Given the description of an element on the screen output the (x, y) to click on. 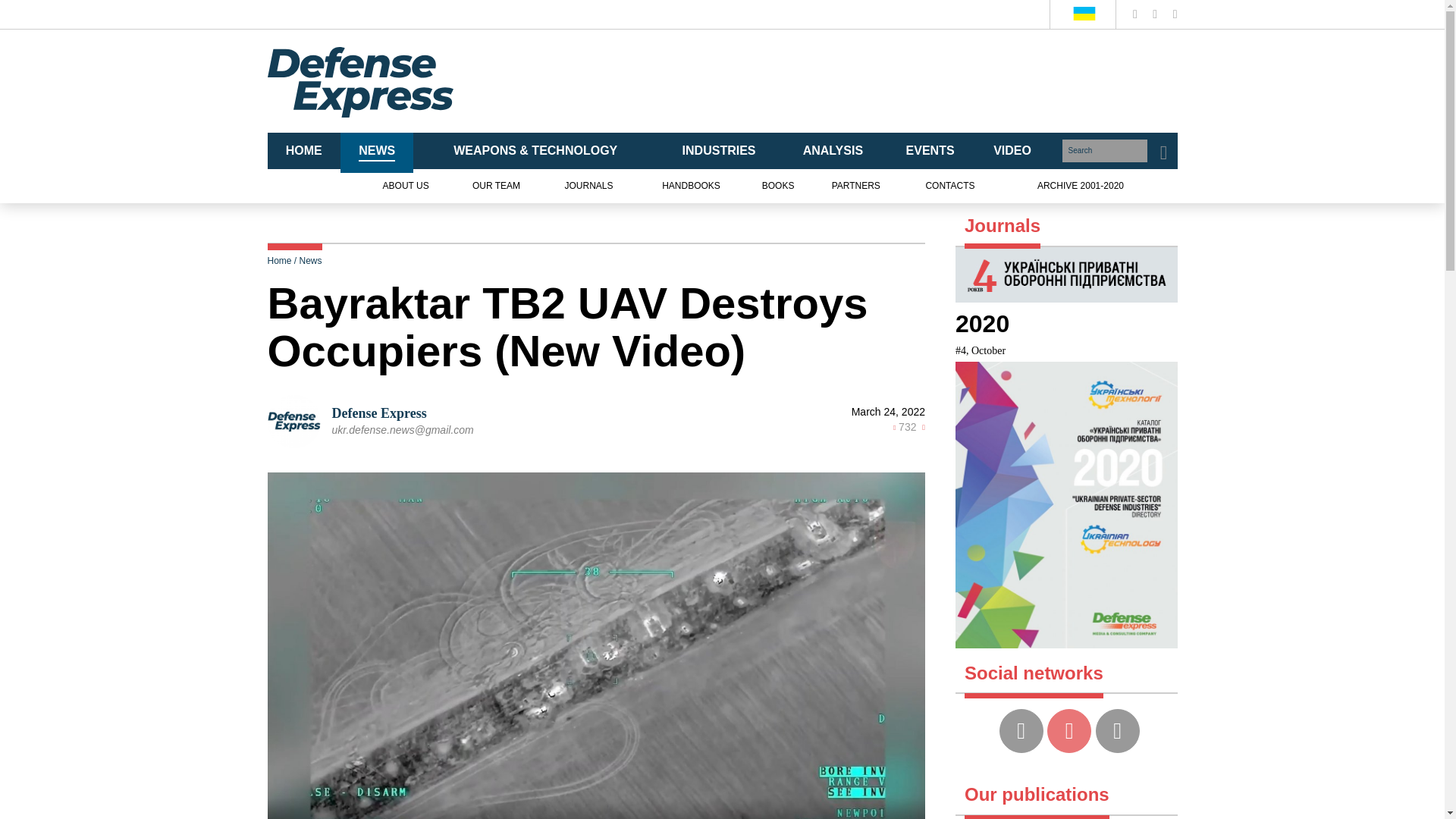
JOURNALS (588, 186)
INDUSTRIES (719, 152)
ANALYSIS (832, 152)
EVENTS (930, 152)
CONTACTS (949, 186)
OUR TEAM (495, 186)
NEWS (376, 152)
Home (278, 260)
VIDEO (1012, 152)
ARCHIVE 2001-2020 (1080, 186)
ABOUT US (405, 186)
HOME (302, 152)
BOOKS (777, 186)
PARTNERS (855, 186)
HANDBOOKS (691, 186)
